Given the description of an element on the screen output the (x, y) to click on. 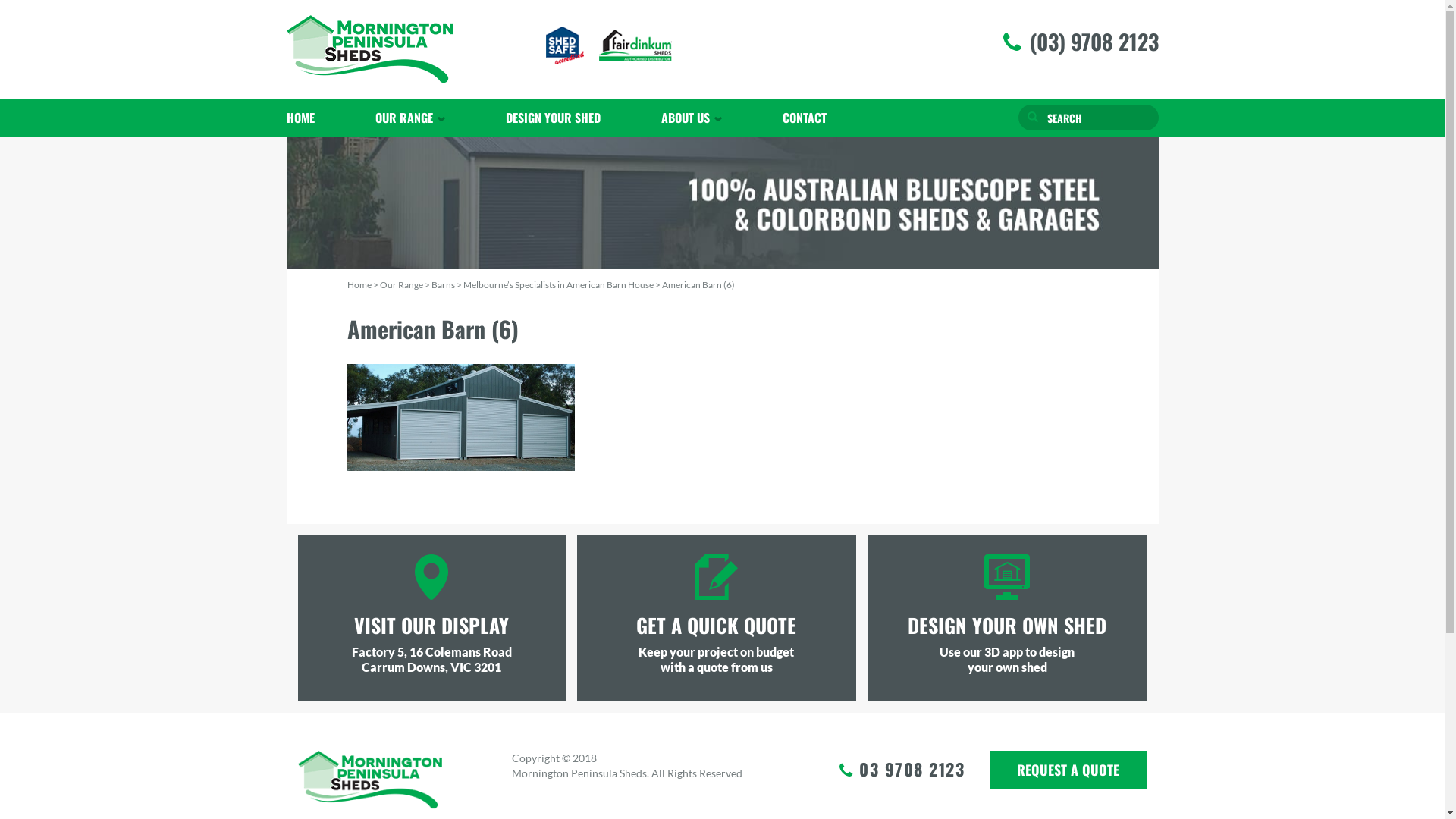
Our Range Element type: text (400, 284)
(03) 9708 2123 Element type: text (1093, 42)
OUR RANGE Element type: text (409, 117)
ABOUT US Element type: text (691, 117)
03 9708 2123 Element type: text (911, 771)
HOME Element type: text (315, 117)
CONTACT Element type: text (804, 117)
Barns Element type: text (442, 284)
REQUEST A QUOTE Element type: text (1067, 769)
Home Element type: text (359, 284)
Search Element type: text (1031, 117)
DESIGN YOUR OWN SHED
Use our 3D app to design
your own shed Element type: text (1006, 614)
DESIGN YOUR SHED Element type: text (552, 117)
